Given the description of an element on the screen output the (x, y) to click on. 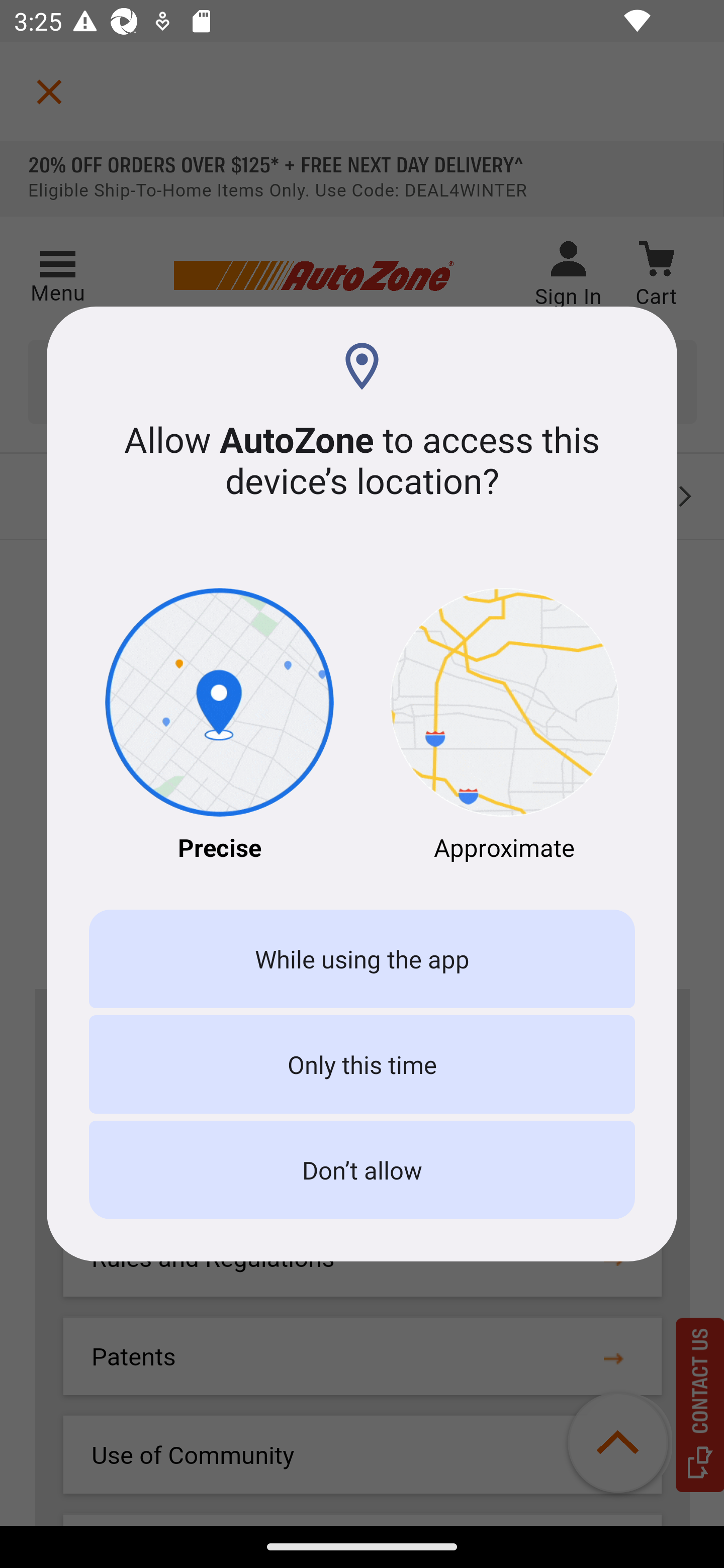
Precise (218, 725)
Approximate (504, 725)
While using the app (361, 958)
Only this time (361, 1063)
Don’t allow (361, 1170)
